Given the description of an element on the screen output the (x, y) to click on. 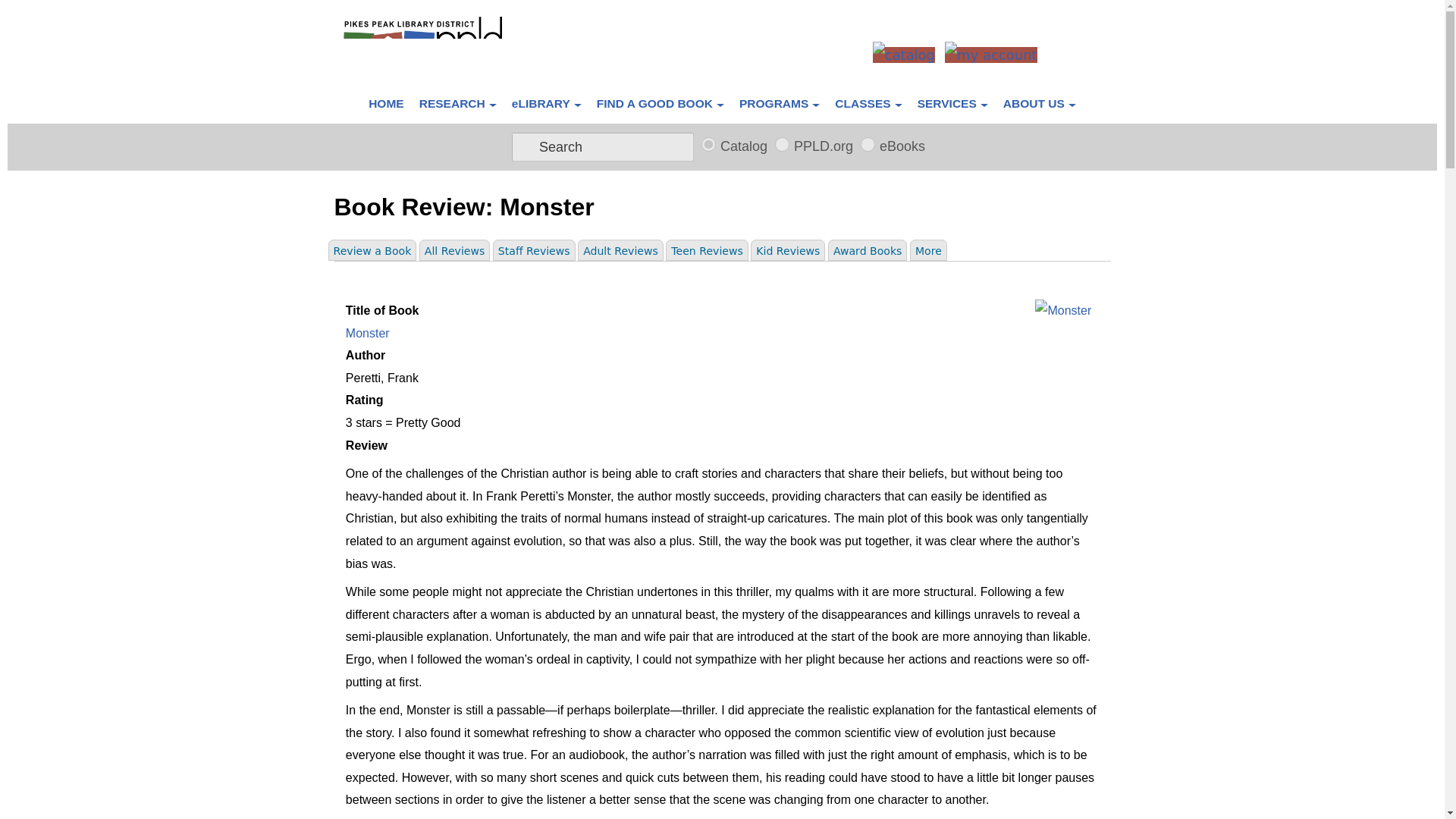
eLIBRARY (546, 102)
PPLD home (386, 102)
RESEARCH (457, 102)
FIND A GOOD BOOK (660, 102)
HOME (386, 102)
